Given the description of an element on the screen output the (x, y) to click on. 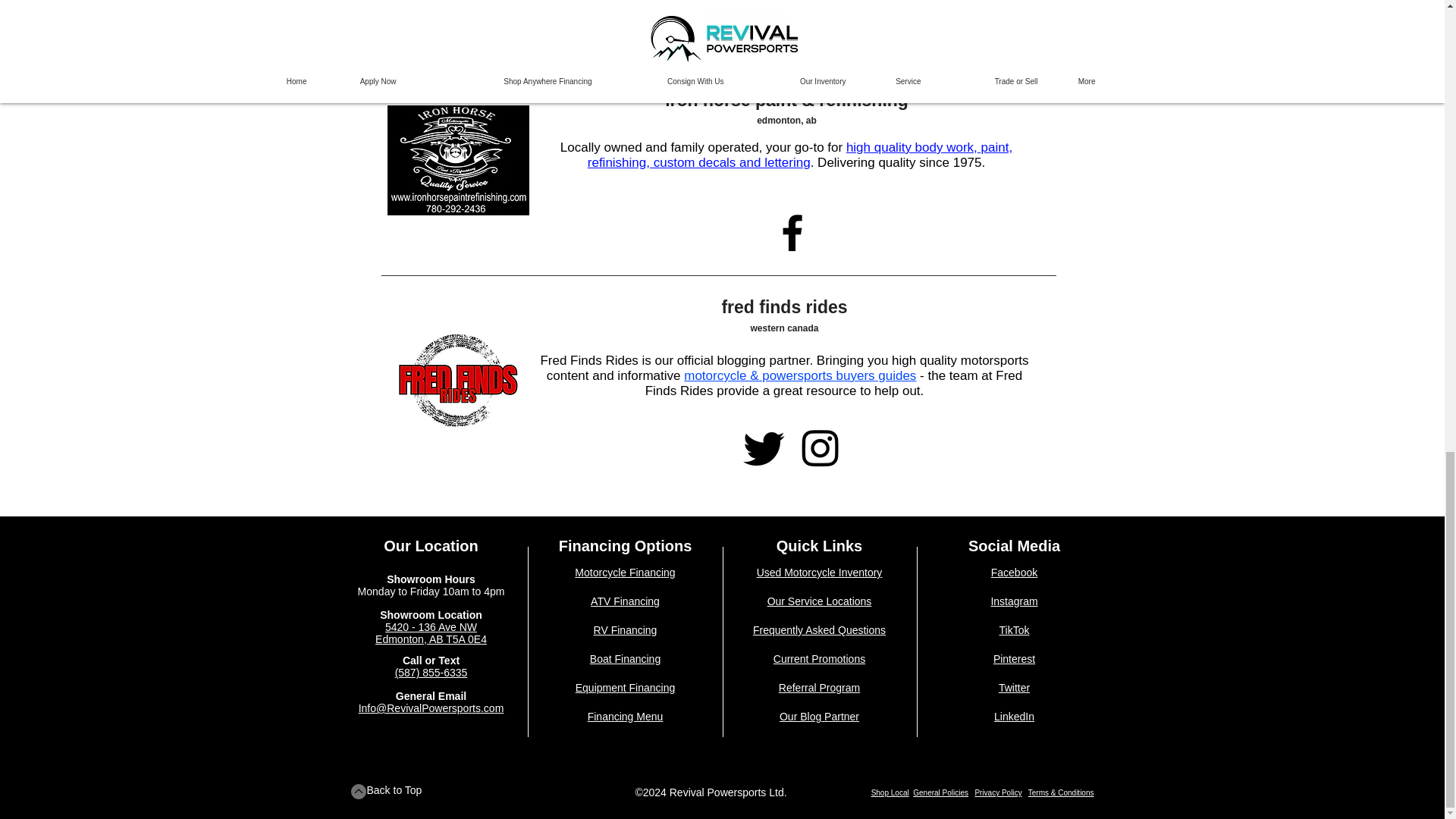
LinkedIn (1013, 716)
Equipment Financing (625, 687)
RV Financing (626, 630)
visit website (788, 24)
Twitter (1013, 687)
Instagram (1013, 601)
Boat Financing (625, 658)
Motorcycle Financing (625, 572)
Pinterest (1013, 658)
TikTok (1013, 630)
Facebook (1013, 572)
Financing Menu (625, 716)
ATV Financing (625, 601)
